Given the description of an element on the screen output the (x, y) to click on. 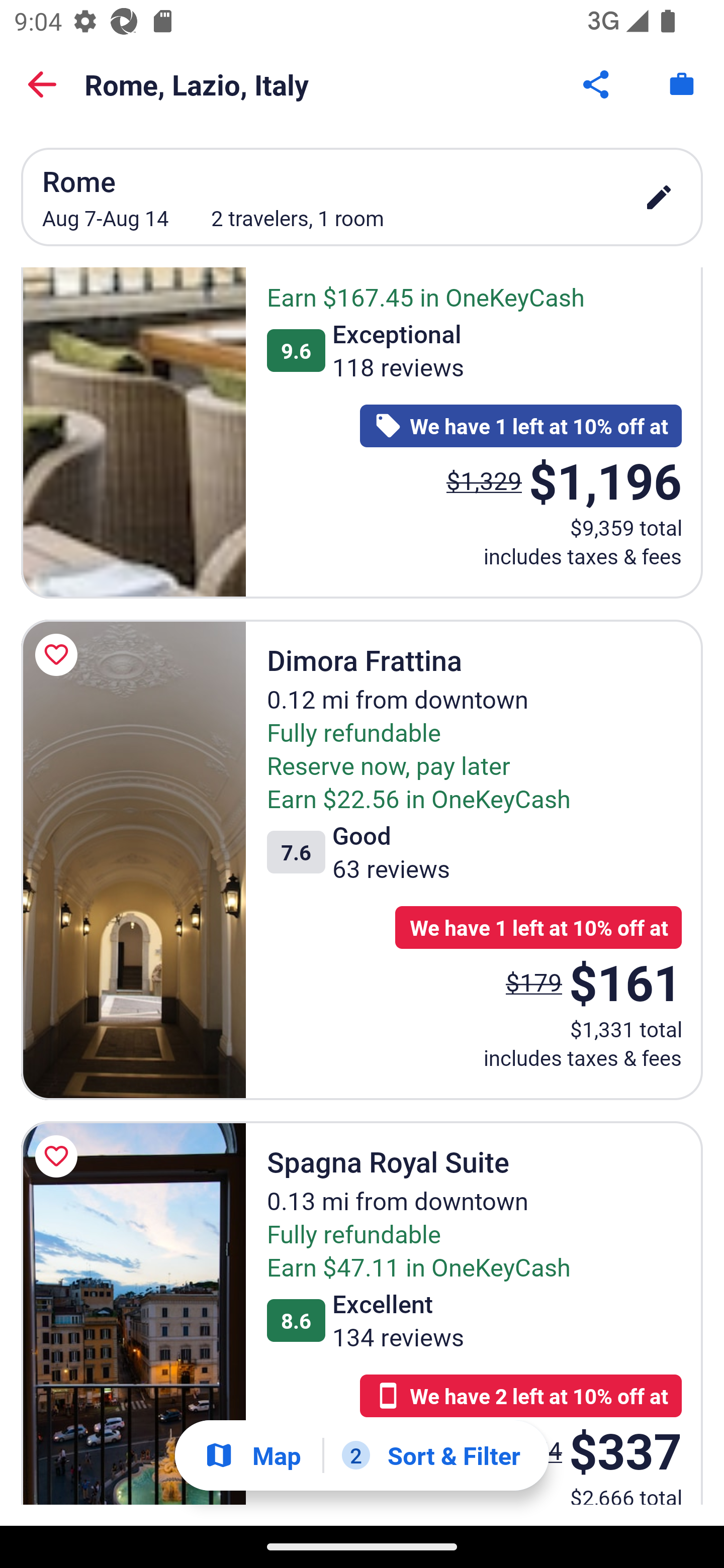
Back (42, 84)
Share Button (597, 84)
Trips. Button (681, 84)
Rome Aug 7-Aug 14 2 travelers, 1 room edit (361, 196)
Fendi Private Suites (133, 433)
$1,329 The price was $1,329 (483, 479)
Save Dimora Frattina to a trip (59, 655)
Dimora Frattina (133, 859)
$179 The price was $179 (533, 981)
Save Spagna Royal Suite to a trip (59, 1155)
Spagna Royal Suite (133, 1313)
2 Sort & Filter 2 Filters applied. Filters Button (430, 1455)
Show map Map Show map Button (252, 1455)
